Given the description of an element on the screen output the (x, y) to click on. 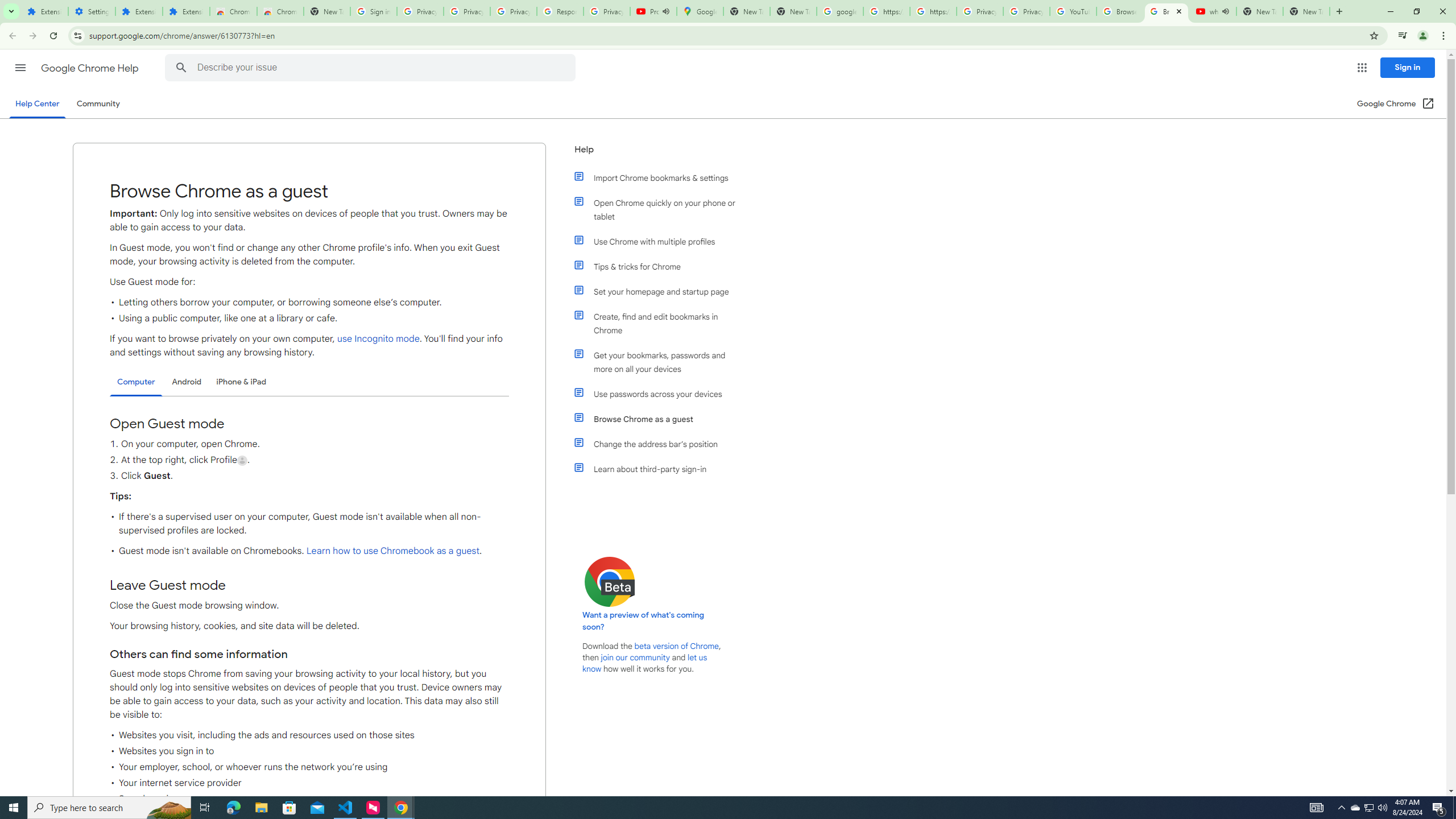
Android (186, 381)
Get your bookmarks, passwords and more on all your devices (661, 362)
Google Chrome Help (90, 68)
https://scholar.google.com/ (886, 11)
Computer (136, 382)
Describe your issue (371, 67)
Create, find and edit bookmarks in Chrome (661, 323)
Extensions (138, 11)
Use Chrome with multiple profiles (661, 241)
